Given the description of an element on the screen output the (x, y) to click on. 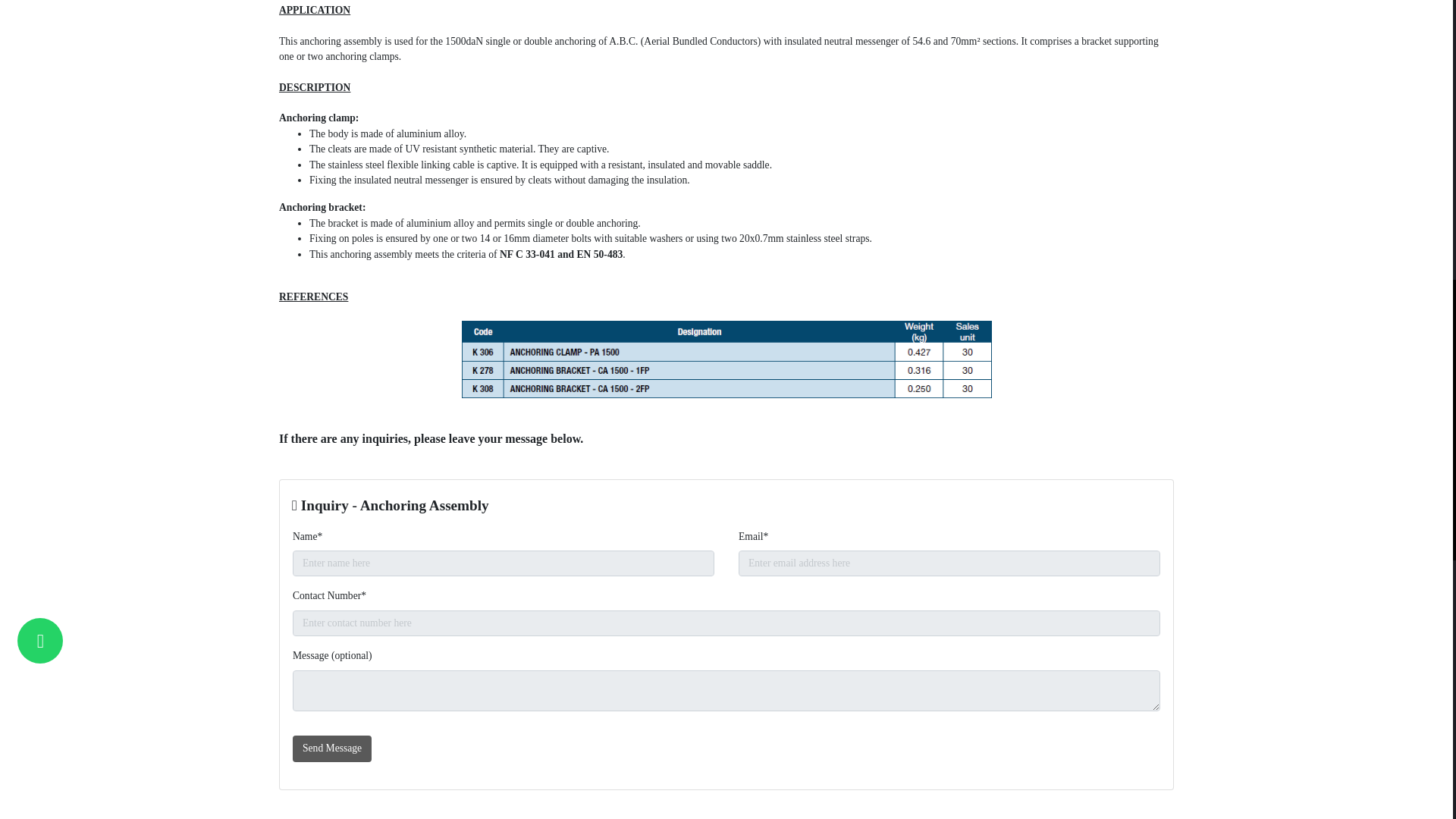
Send Message (331, 748)
